Given the description of an element on the screen output the (x, y) to click on. 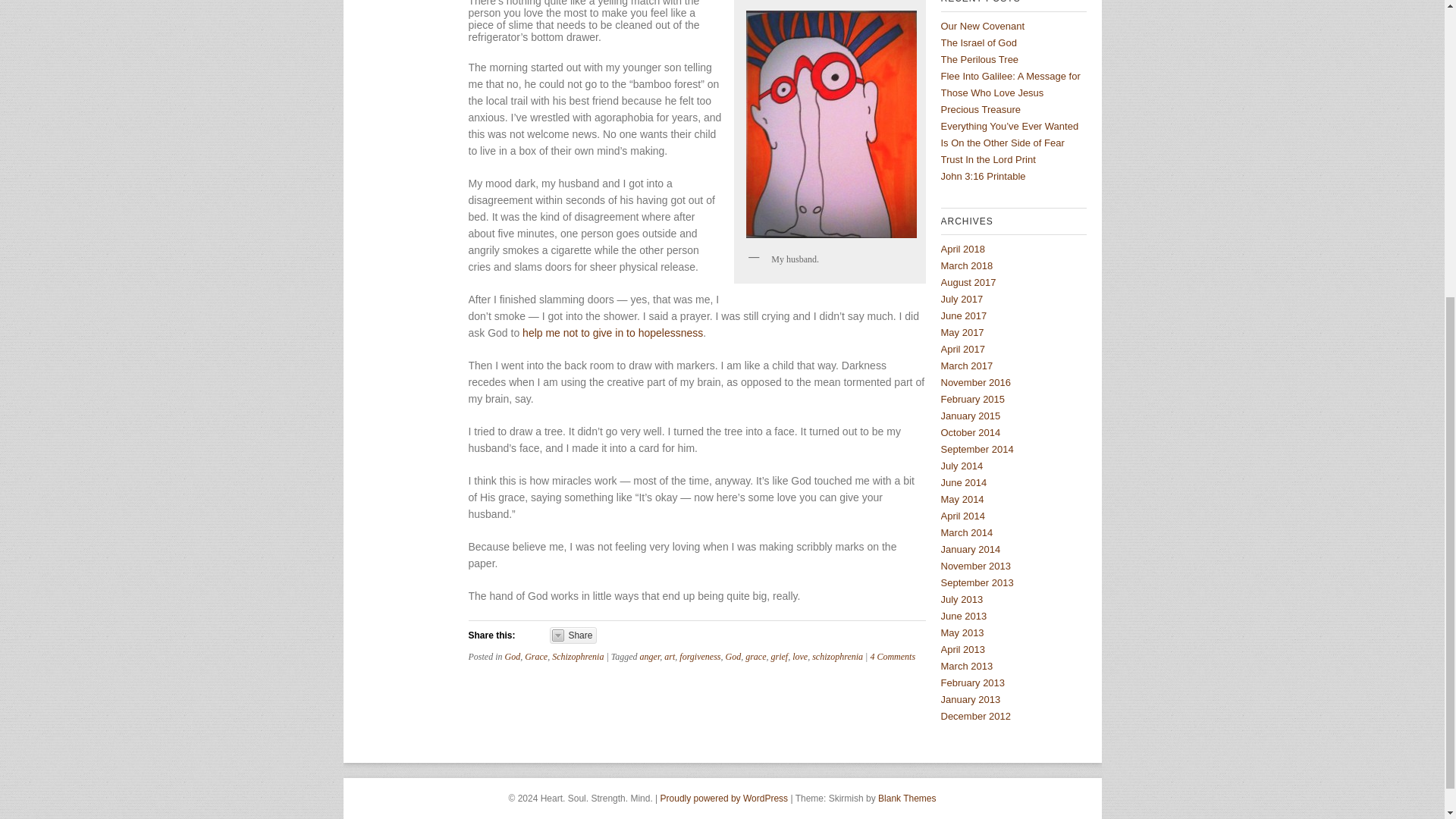
The Perilous Tree (978, 59)
Flee Into Galilee: A Message for Those Who Love Jesus (1010, 84)
anger (650, 656)
March 2018 (966, 265)
forgiveness (699, 656)
God (513, 656)
grace (755, 656)
A Semantic Personal Publishing Platform (725, 798)
Schizophrenia (577, 656)
art (669, 656)
grief (780, 656)
God (733, 656)
4 Comments (892, 656)
depression and hopelessness (612, 332)
love (800, 656)
